Given the description of an element on the screen output the (x, y) to click on. 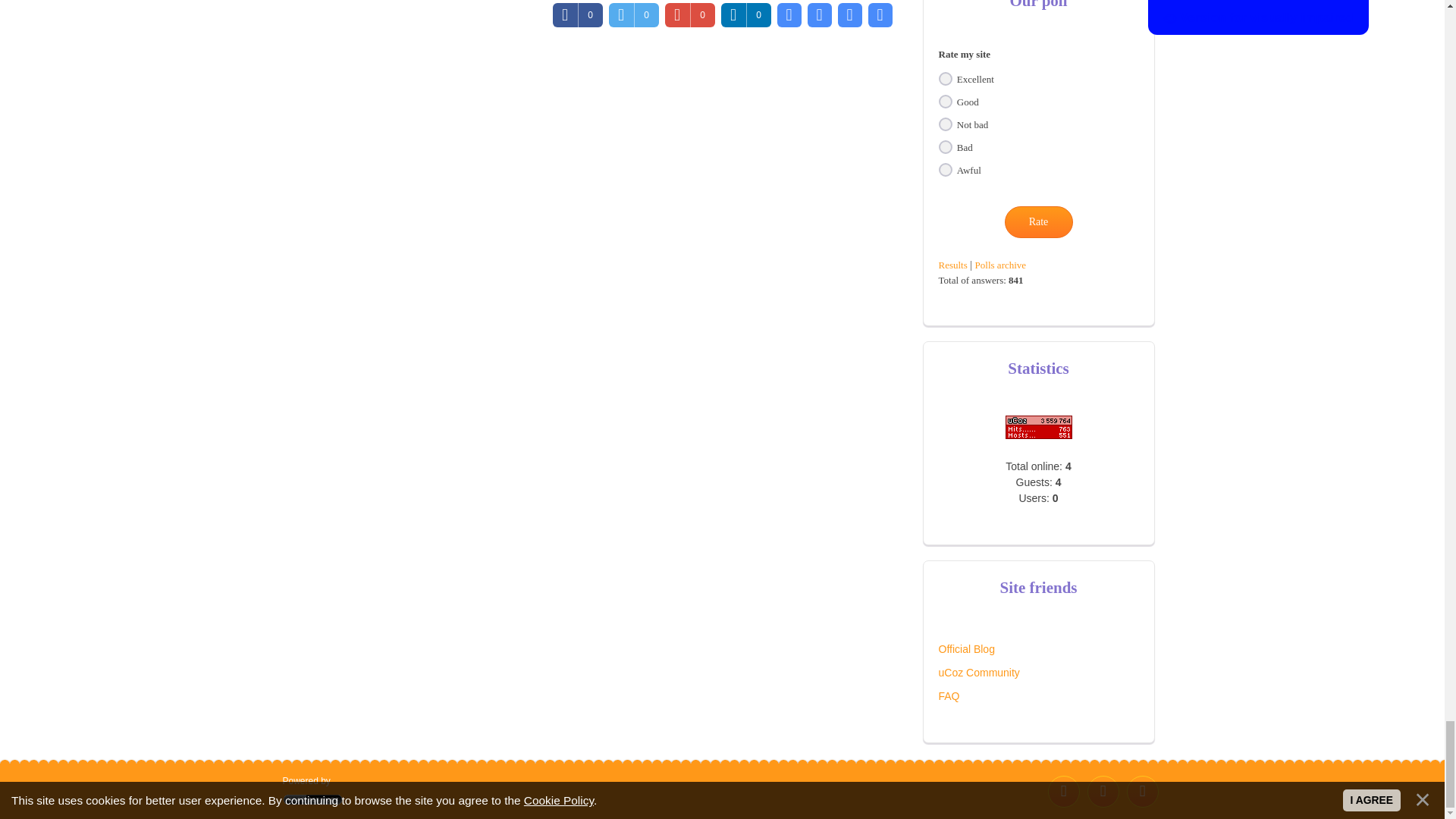
1 (945, 78)
4 (945, 146)
Rate (1037, 222)
5 (945, 169)
2 (945, 101)
3 (945, 124)
